Given the description of an element on the screen output the (x, y) to click on. 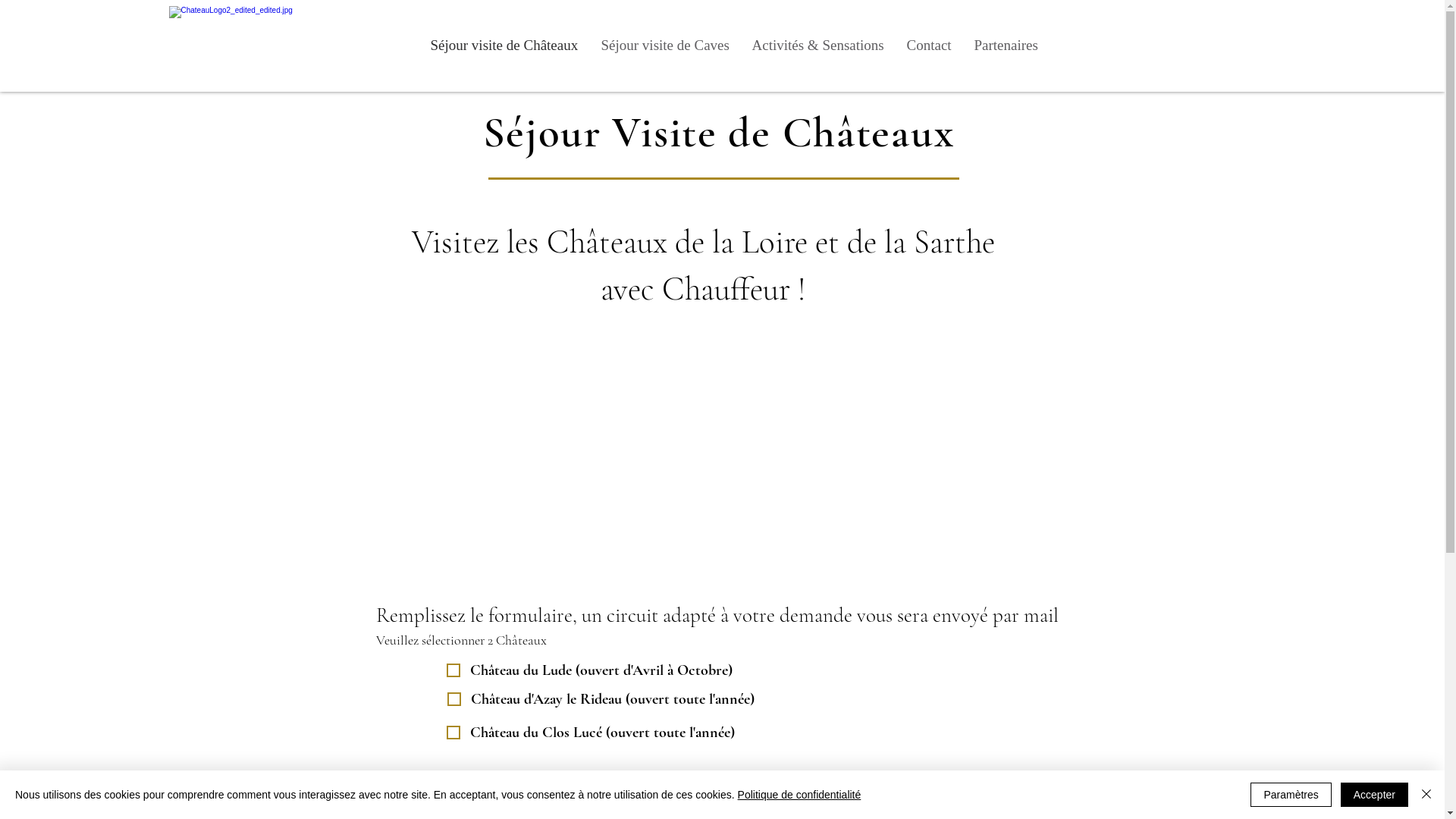
Contact Element type: text (928, 45)
Accepter Element type: text (1374, 794)
Partenaires Element type: text (1006, 45)
